Given the description of an element on the screen output the (x, y) to click on. 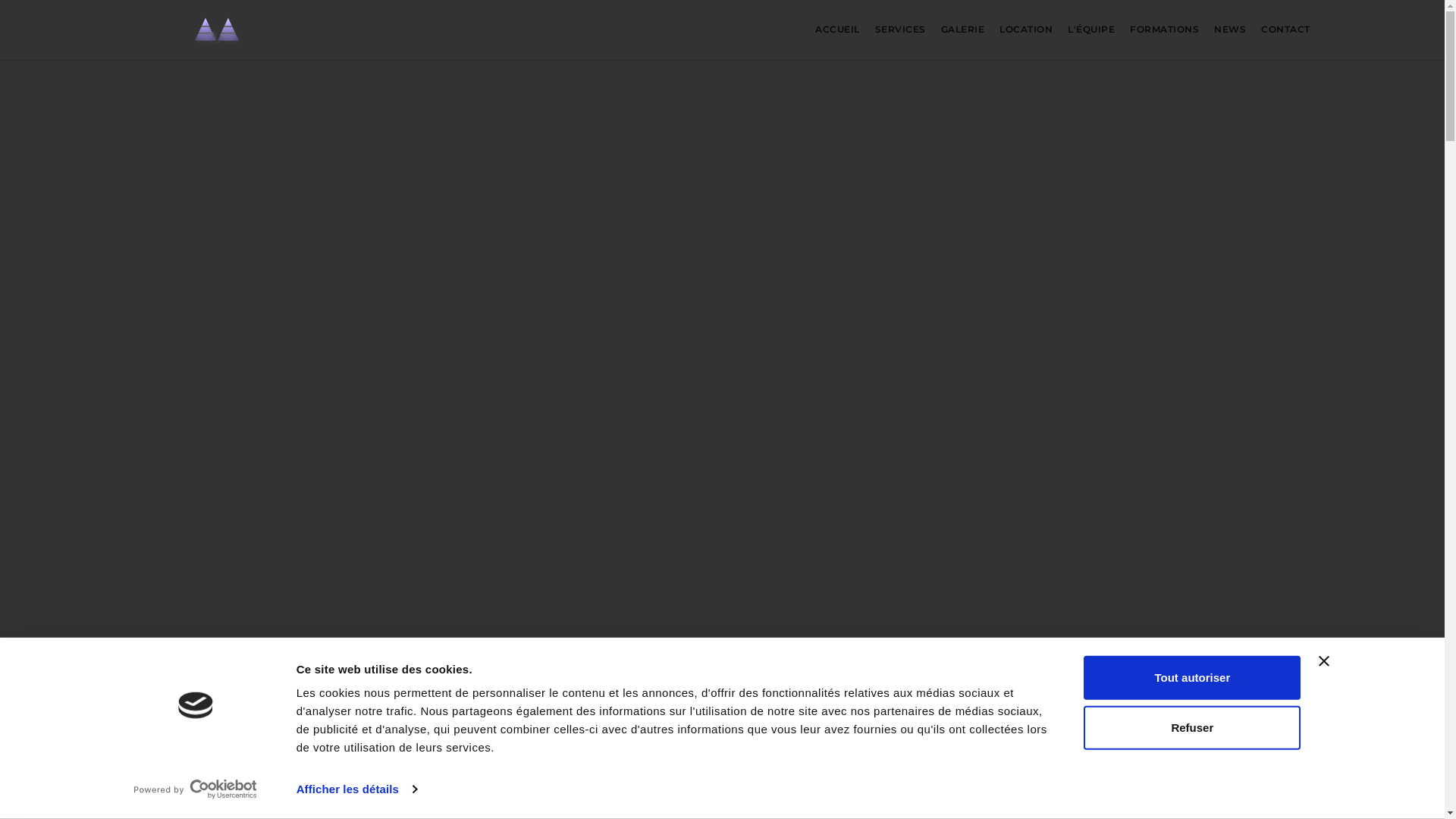
LOCATION Element type: text (1025, 28)
ACCUEIL Element type: text (837, 28)
Tout autoriser Element type: text (1191, 677)
NEWS Element type: text (1229, 28)
SERVICES Element type: text (900, 28)
Refuser Element type: text (1191, 727)
FORMATIONS Element type: text (1163, 28)
GALERIE Element type: text (963, 28)
CONTACT Element type: text (1285, 28)
